Given the description of an element on the screen output the (x, y) to click on. 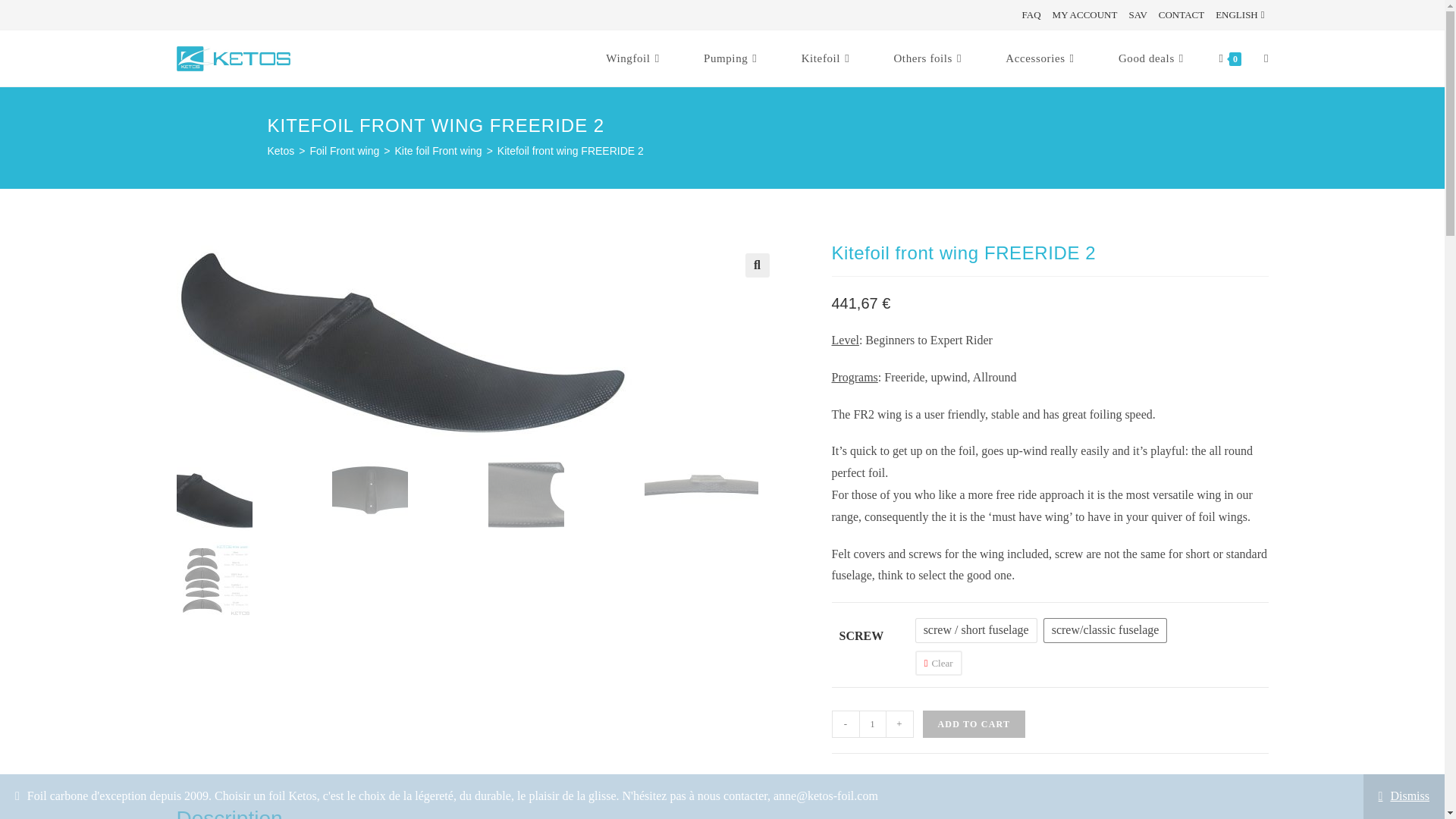
FAQ (1031, 14)
Pumping (731, 58)
Wingfoil (635, 58)
Others foils (929, 58)
Good deals (1152, 58)
Kitefoil (826, 58)
ENGLISH (1241, 14)
1 (872, 723)
MY ACCOUNT (1085, 14)
English (1241, 14)
SAV (1137, 14)
Accessories (1042, 58)
CONTACT (1181, 14)
